Given the description of an element on the screen output the (x, y) to click on. 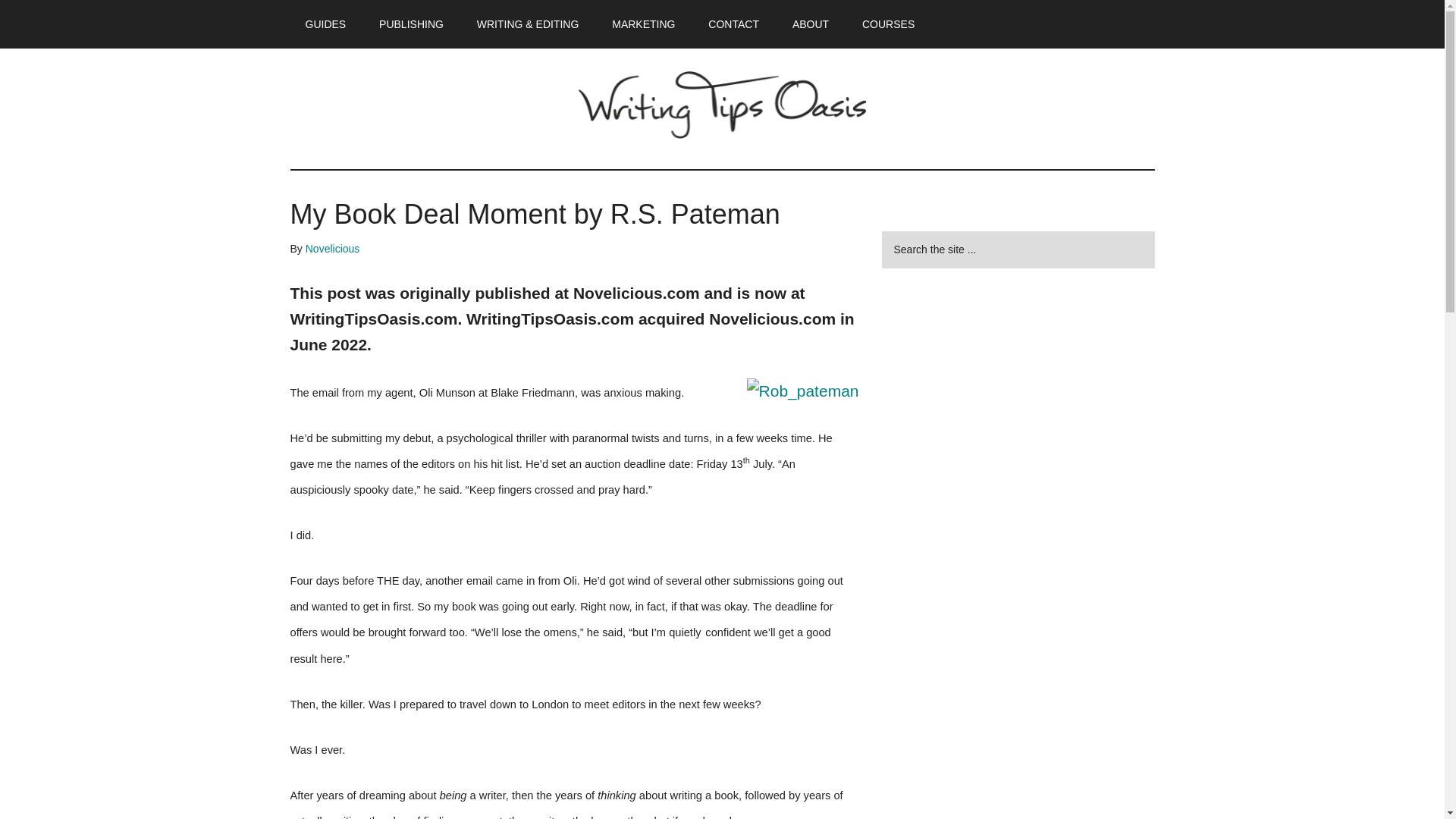
CONTACT (733, 24)
Novelicious (332, 248)
ABOUT (810, 24)
GUIDES (325, 24)
MARKETING (643, 24)
COURSES (888, 24)
